Given the description of an element on the screen output the (x, y) to click on. 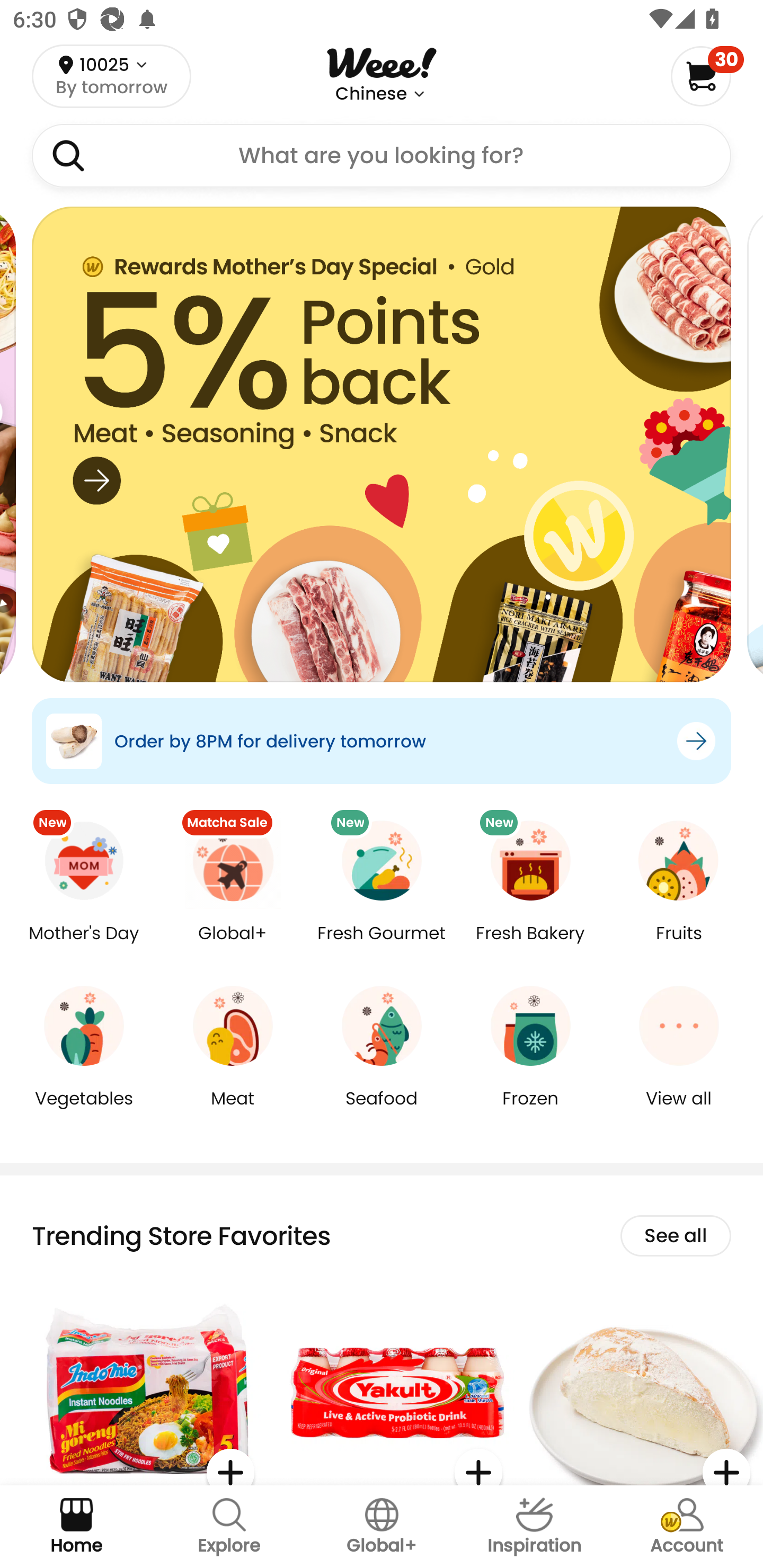
10025 By tomorrow (111, 75)
30 (706, 75)
Chinese (370, 93)
What are you looking for? (381, 155)
Order by 8PM for delivery tomorrow (381, 740)
Mother's Day (83, 946)
Global+ (232, 946)
Fresh Gourmet (381, 946)
Fresh Bakery (530, 946)
Fruits (678, 946)
Vegetables (83, 1111)
Meat (232, 1111)
Seafood (381, 1111)
Frozen (530, 1111)
View all (678, 1111)
Home (76, 1526)
Explore (228, 1526)
Global+ (381, 1526)
Inspiration (533, 1526)
Account (686, 1526)
